Given the description of an element on the screen output the (x, y) to click on. 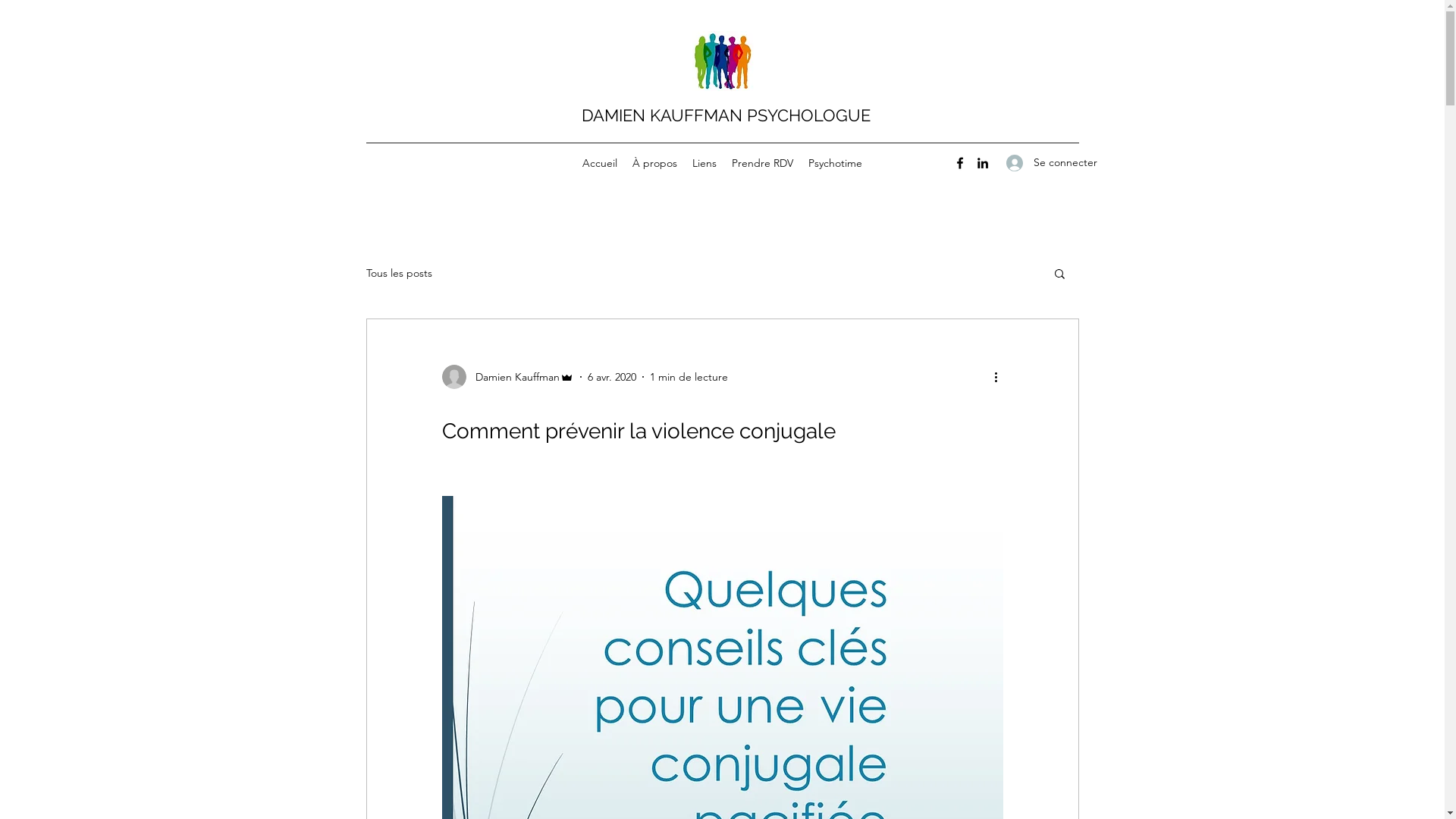
Prendre RDV Element type: text (762, 162)
Damien Kauffman Element type: text (507, 376)
Psychotime Element type: text (834, 162)
Se connecter Element type: text (1036, 162)
Liens Element type: text (704, 162)
DAMIEN KAUFFMAN PSYCHOLOGUE Element type: text (724, 115)
Accueil Element type: text (599, 162)
Tous les posts Element type: text (398, 272)
